Given the description of an element on the screen output the (x, y) to click on. 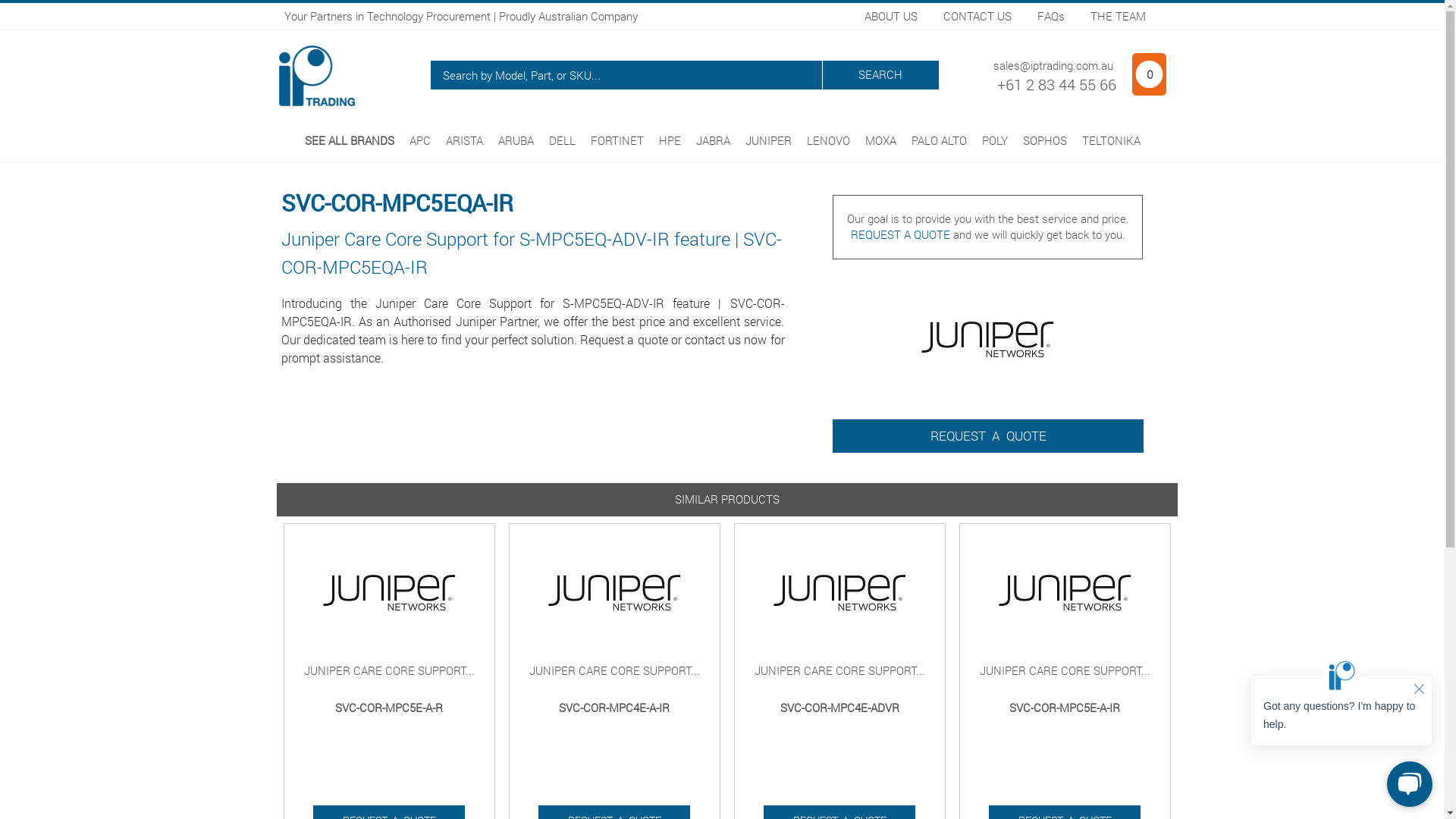
Juniper/SVC-COR-MPC5E-A-IR Element type: hover (1063, 592)
Juniper/SVC-COR-MPC5E-A-R Element type: hover (389, 592)
JUNIPER CARE CORE SUPPORT... Element type: text (389, 670)
REQUEST  A  QUOTE Element type: text (987, 436)
DELL Element type: text (562, 139)
JABRA Element type: text (712, 139)
PALO ALTO Element type: text (938, 139)
SVC-COR-MPC4E-ADVR Element type: text (839, 707)
POLY Element type: text (993, 139)
SVC-COR-MPC4E-A-IR Element type: text (613, 707)
JUNIPER Element type: text (767, 139)
ARISTA Element type: text (464, 139)
THE TEAM Element type: text (1117, 15)
TELTONIKA Element type: text (1110, 139)
Juniper/SVC-COR-MPC4E-ADVR Element type: hover (839, 592)
SEE ALL BRANDS Element type: text (349, 139)
sales@iptrading.com.au Element type: text (1053, 64)
ABOUT US Element type: text (890, 15)
LENOVO Element type: text (828, 139)
CONTACT US Element type: text (977, 15)
FORTINET Element type: text (616, 139)
Juniper/SVC-COR-MPC4E-A-IR Element type: hover (613, 592)
JUNIPER CARE CORE SUPPORT... Element type: text (1063, 670)
MOXA Element type: text (879, 139)
ARUBA Element type: text (514, 139)
JUNIPER CARE CORE SUPPORT... Element type: text (839, 670)
HPE Element type: text (668, 139)
JUNIPER CARE CORE SUPPORT... Element type: text (613, 670)
SVC-COR-MPC5E-A-IR Element type: text (1063, 707)
SIMILAR PRODUCTS Element type: text (726, 499)
APC Element type: text (419, 139)
SOPHOS Element type: text (1043, 139)
SVC-COR-MPC5E-A-R Element type: text (389, 707)
FAQs Element type: text (1050, 15)
+61 2 83 44 55 66 Element type: text (1055, 84)
